Given the description of an element on the screen output the (x, y) to click on. 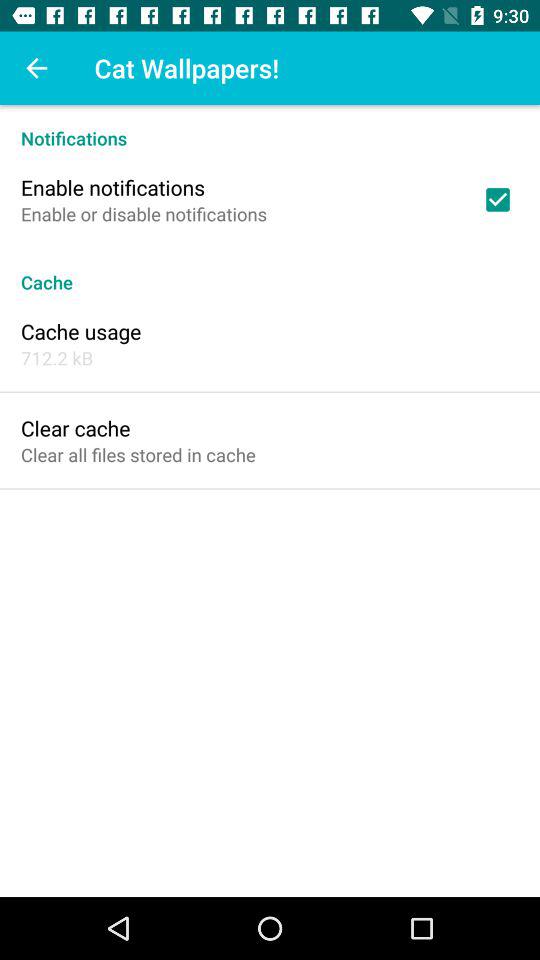
press the icon below the clear cache item (138, 454)
